Given the description of an element on the screen output the (x, y) to click on. 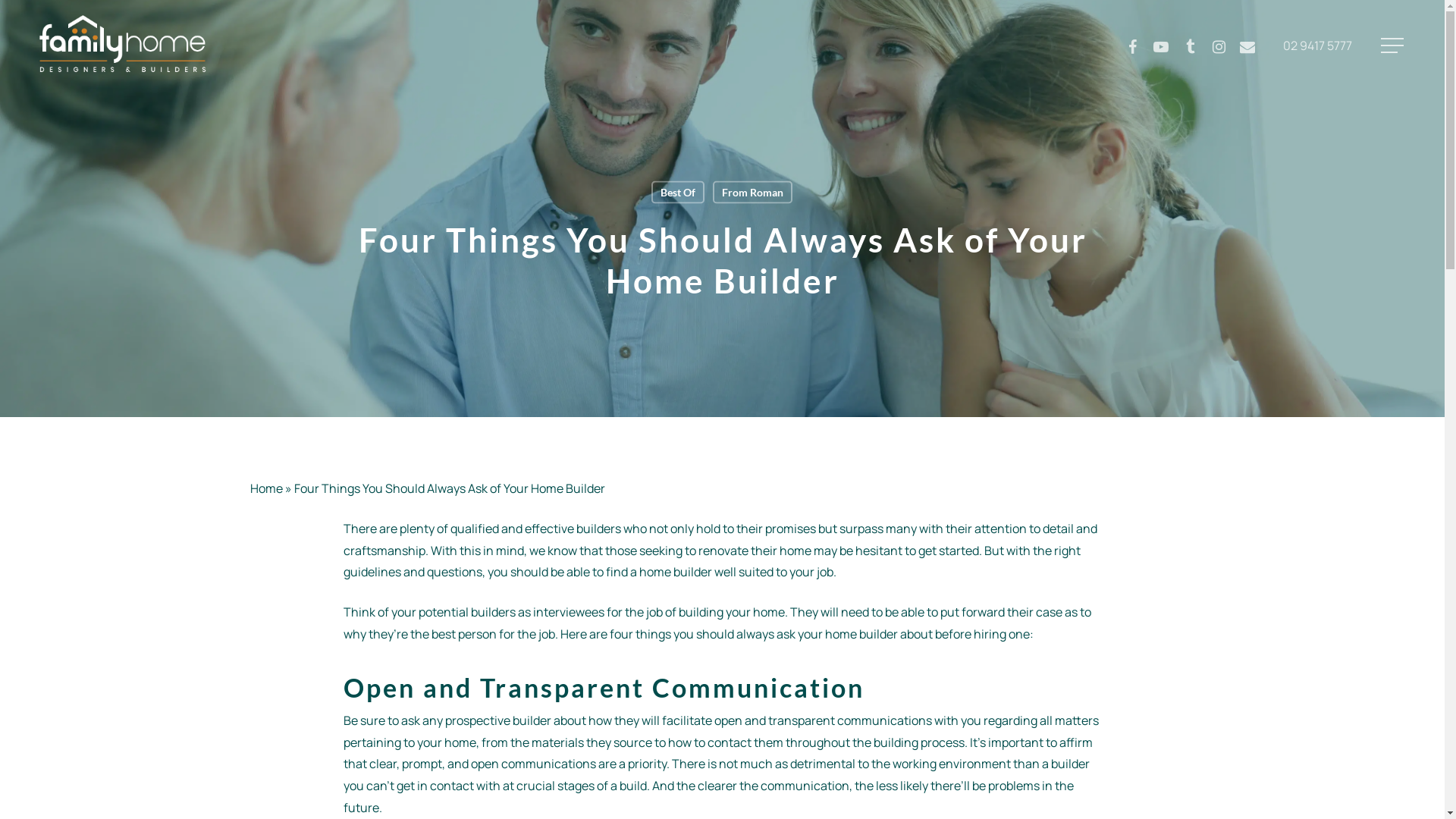
Best Of Element type: text (677, 191)
facebook Element type: text (1131, 45)
tumblr Element type: text (1189, 45)
youtube Element type: text (1160, 45)
02 9417 5777 Element type: text (1317, 45)
email Element type: text (1247, 45)
From Roman Element type: text (752, 191)
Menu Element type: text (1393, 45)
instagram Element type: text (1218, 45)
Home Element type: text (266, 488)
